Given the description of an element on the screen output the (x, y) to click on. 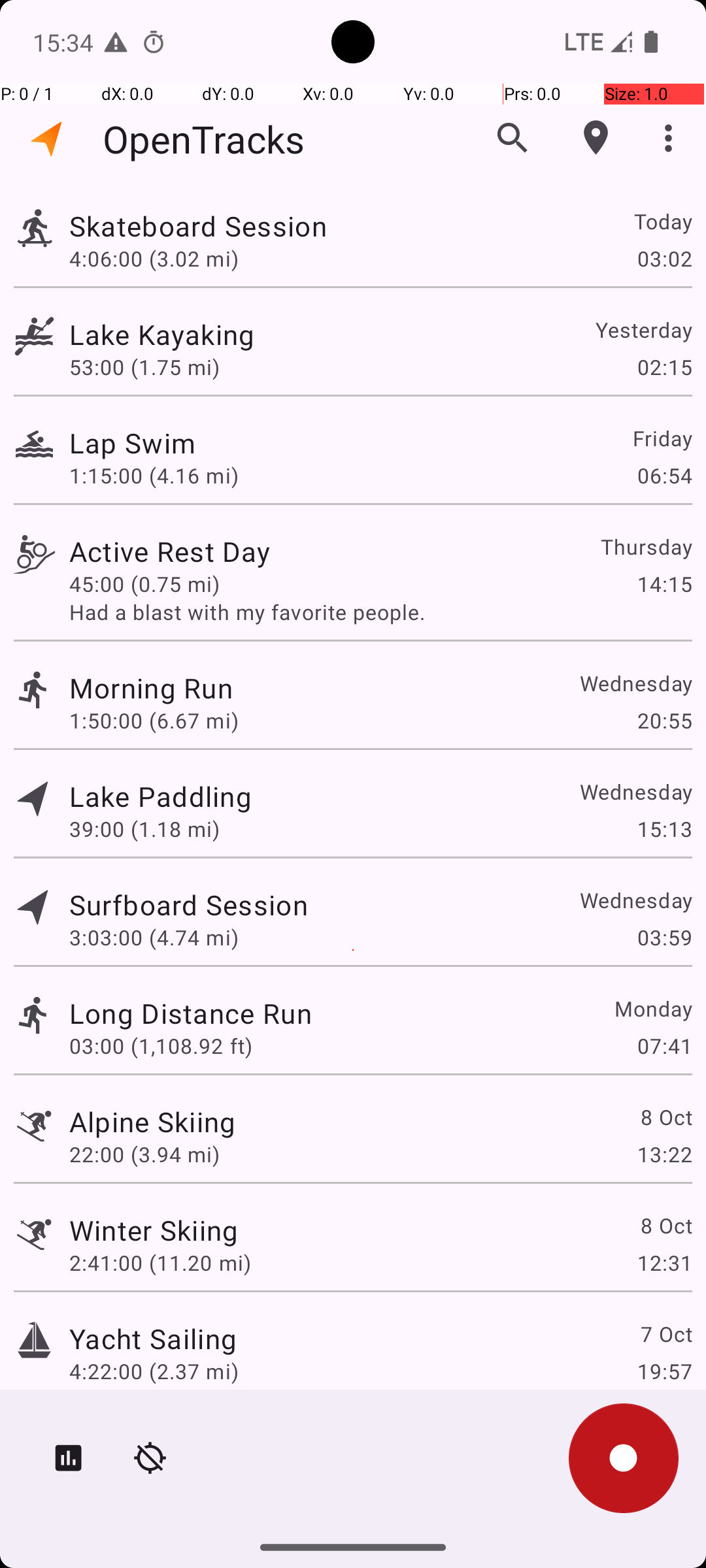
Skateboard Session Element type: android.widget.TextView (197, 225)
4:06:00 (3.02 mi) Element type: android.widget.TextView (153, 258)
03:02 Element type: android.widget.TextView (664, 258)
Lake Kayaking Element type: android.widget.TextView (161, 333)
Yesterday Element type: android.widget.TextView (643, 329)
53:00 (1.75 mi) Element type: android.widget.TextView (144, 366)
02:15 Element type: android.widget.TextView (664, 366)
Lap Swim Element type: android.widget.TextView (132, 442)
1:15:00 (4.16 mi) Element type: android.widget.TextView (153, 475)
06:54 Element type: android.widget.TextView (664, 475)
Active Rest Day Element type: android.widget.TextView (169, 550)
45:00 (0.75 mi) Element type: android.widget.TextView (144, 583)
14:15 Element type: android.widget.TextView (664, 583)
Had a blast with my favorite people. Element type: android.widget.TextView (380, 611)
Morning Run Element type: android.widget.TextView (150, 687)
1:50:00 (6.67 mi) Element type: android.widget.TextView (153, 720)
20:55 Element type: android.widget.TextView (664, 720)
Lake Paddling Element type: android.widget.TextView (160, 795)
39:00 (1.18 mi) Element type: android.widget.TextView (144, 828)
15:13 Element type: android.widget.TextView (664, 828)
Surfboard Session Element type: android.widget.TextView (188, 904)
3:03:00 (4.74 mi) Element type: android.widget.TextView (153, 937)
03:59 Element type: android.widget.TextView (664, 937)
Long Distance Run Element type: android.widget.TextView (190, 1012)
Monday Element type: android.widget.TextView (652, 1008)
03:00 (1,108.92 ft) Element type: android.widget.TextView (160, 1045)
07:41 Element type: android.widget.TextView (664, 1045)
Alpine Skiing Element type: android.widget.TextView (152, 1121)
8 Oct Element type: android.widget.TextView (665, 1116)
22:00 (3.94 mi) Element type: android.widget.TextView (144, 1154)
13:22 Element type: android.widget.TextView (664, 1154)
Winter Skiing Element type: android.widget.TextView (153, 1229)
2:41:00 (11.20 mi) Element type: android.widget.TextView (159, 1262)
12:31 Element type: android.widget.TextView (664, 1262)
Yacht Sailing Element type: android.widget.TextView (152, 1337)
7 Oct Element type: android.widget.TextView (665, 1333)
4:22:00 (2.37 mi) Element type: android.widget.TextView (153, 1370)
19:57 Element type: android.widget.TextView (664, 1370)
